Given the description of an element on the screen output the (x, y) to click on. 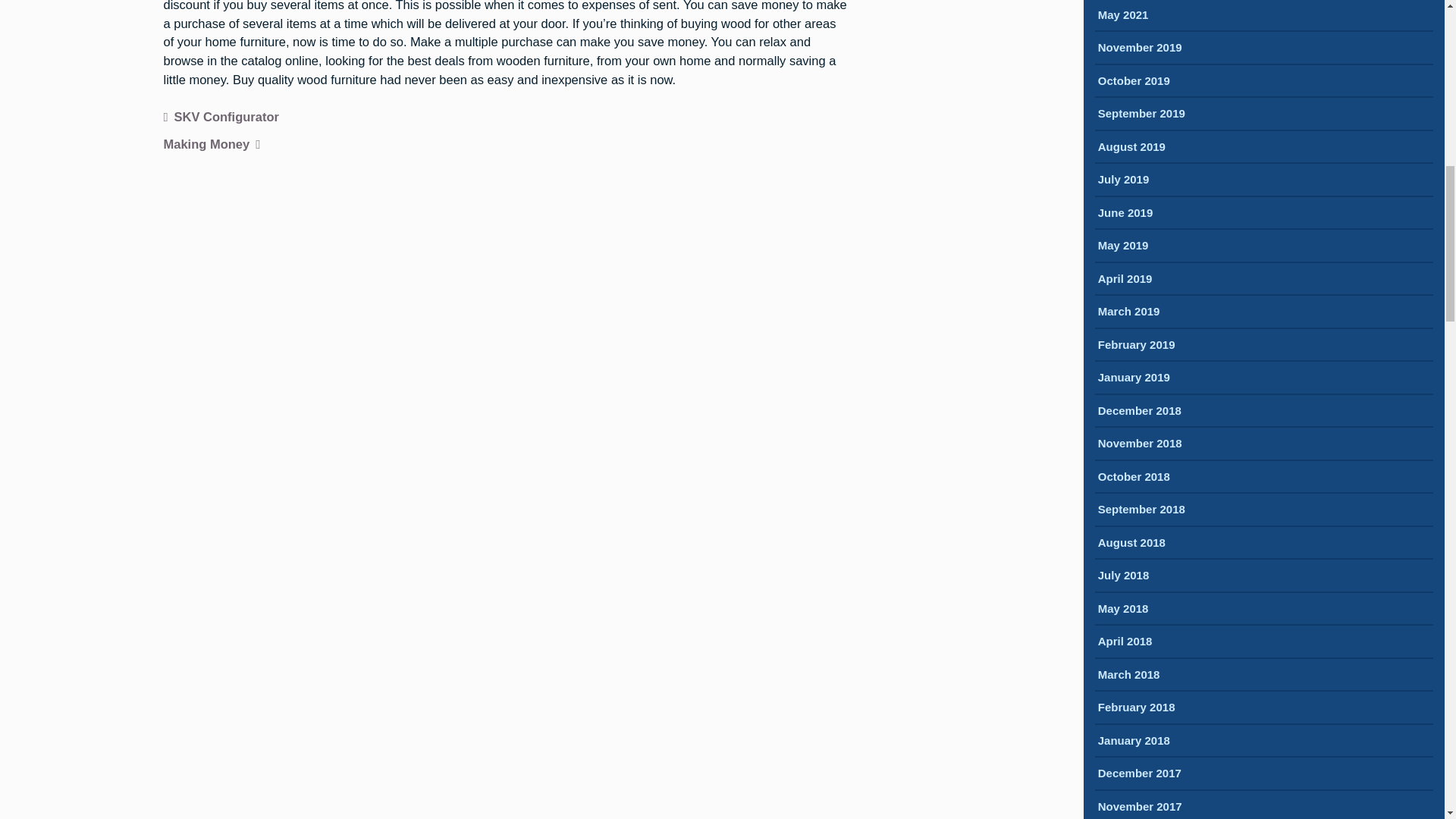
August 2019 (1131, 148)
September 2018 (1141, 510)
July 2018 (1123, 576)
SKV Configurator (221, 117)
December 2018 (1138, 412)
November 2019 (1139, 48)
Making Money (211, 145)
July 2019 (1123, 180)
June 2019 (1125, 213)
March 2019 (1128, 312)
May 2018 (1122, 609)
October 2018 (1133, 478)
February 2019 (1135, 345)
April 2019 (1125, 279)
November 2018 (1139, 444)
